Given the description of an element on the screen output the (x, y) to click on. 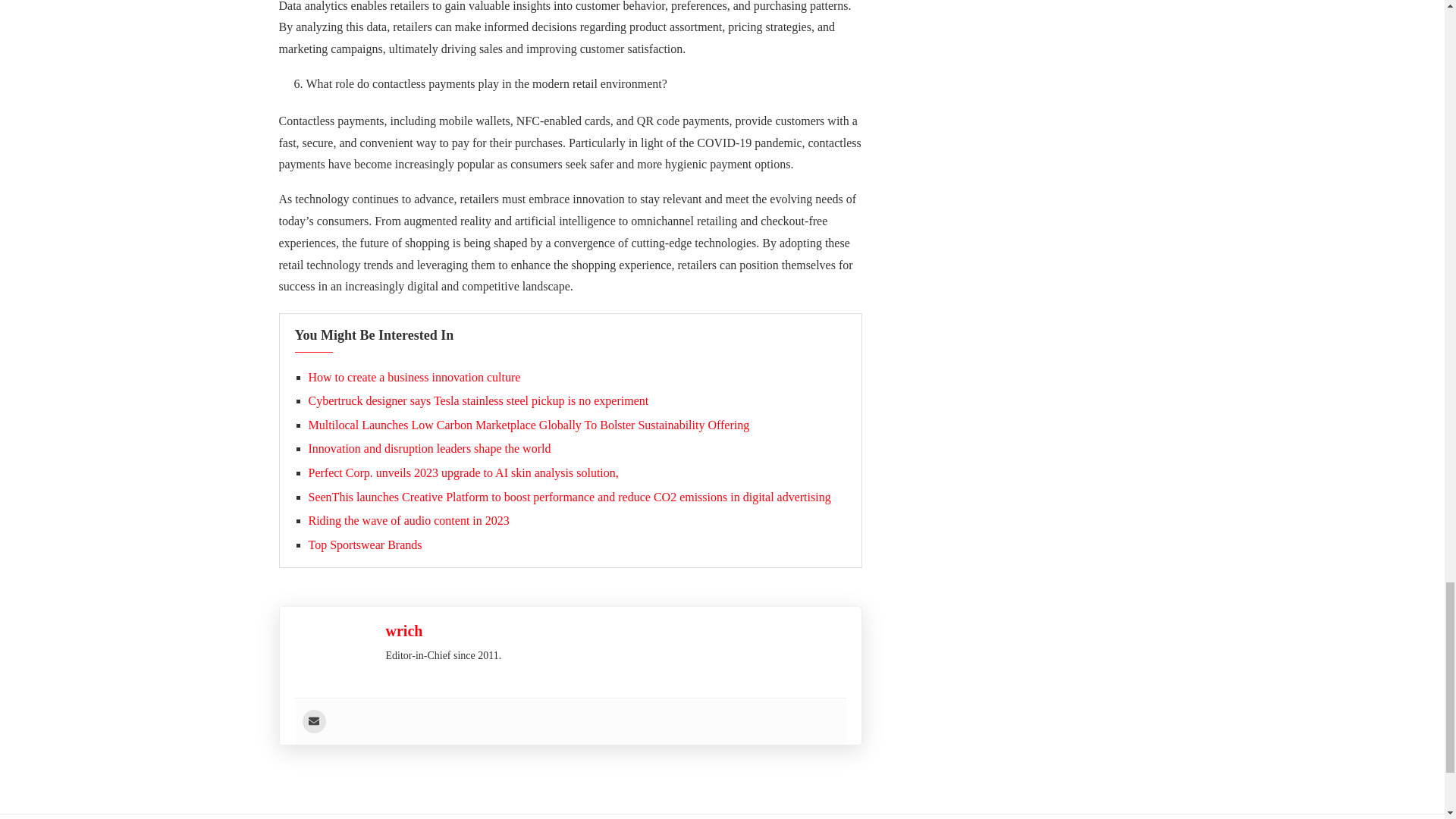
How to create a business innovation culture (413, 377)
User email (312, 721)
Innovation and disruption leaders shape the world (428, 448)
Riding the wave of audio content in 2023 (407, 520)
wrich (403, 630)
Top Sportswear Brands (364, 544)
